Given the description of an element on the screen output the (x, y) to click on. 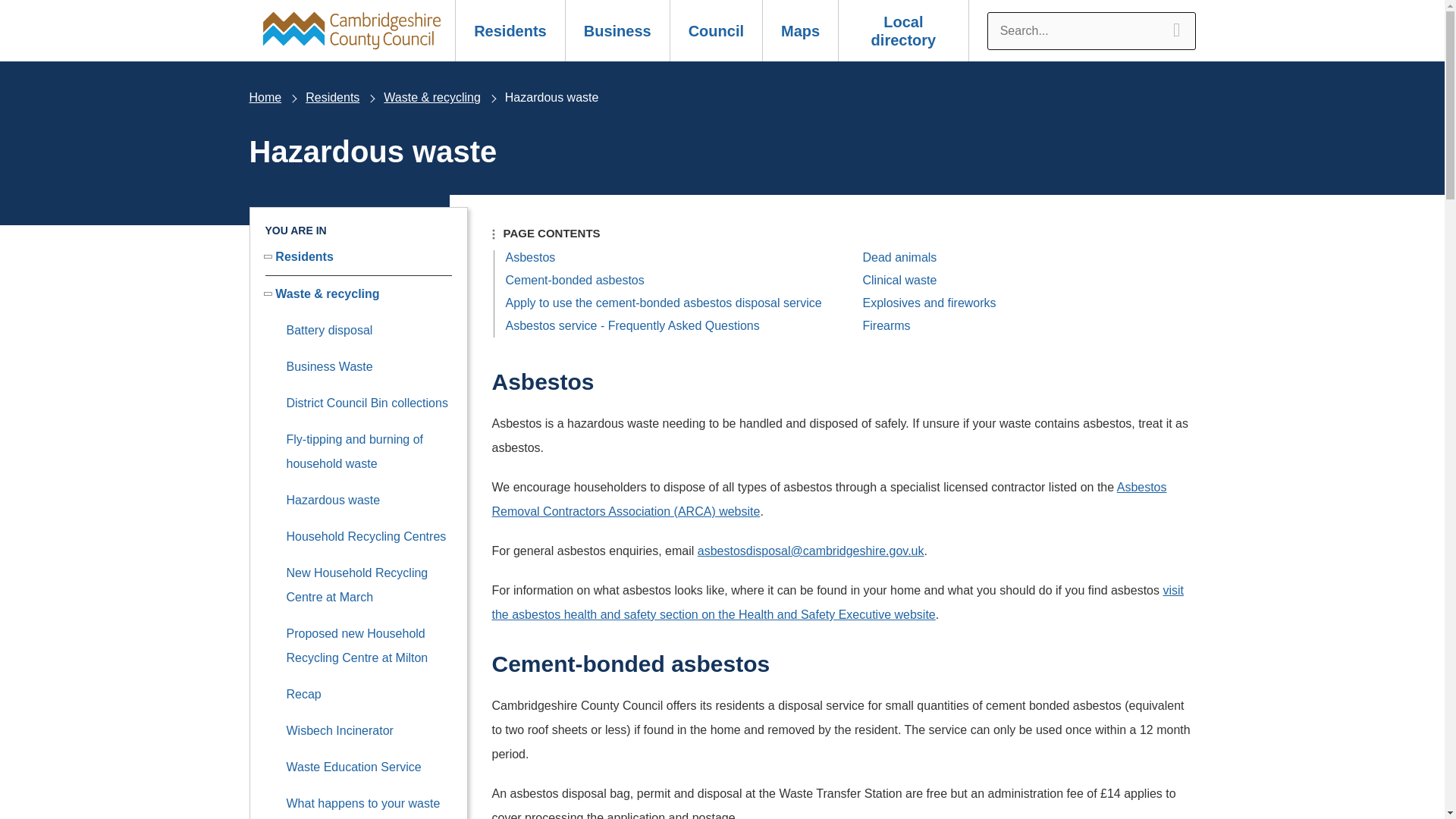
Asbestos (529, 256)
Explosives and fireworks (929, 302)
Residents (510, 31)
Asbestos service - Frequently Asked Questions (631, 325)
Clinical waste (900, 279)
Cement-bonded asbestos (574, 279)
Maps (799, 31)
Skip to main content (12, 9)
Business (616, 31)
Residents (332, 97)
Search Site (1091, 30)
Firearms (887, 325)
Apply to use the cement-bonded asbestos disposal service (663, 302)
Local directory (903, 31)
